Given the description of an element on the screen output the (x, y) to click on. 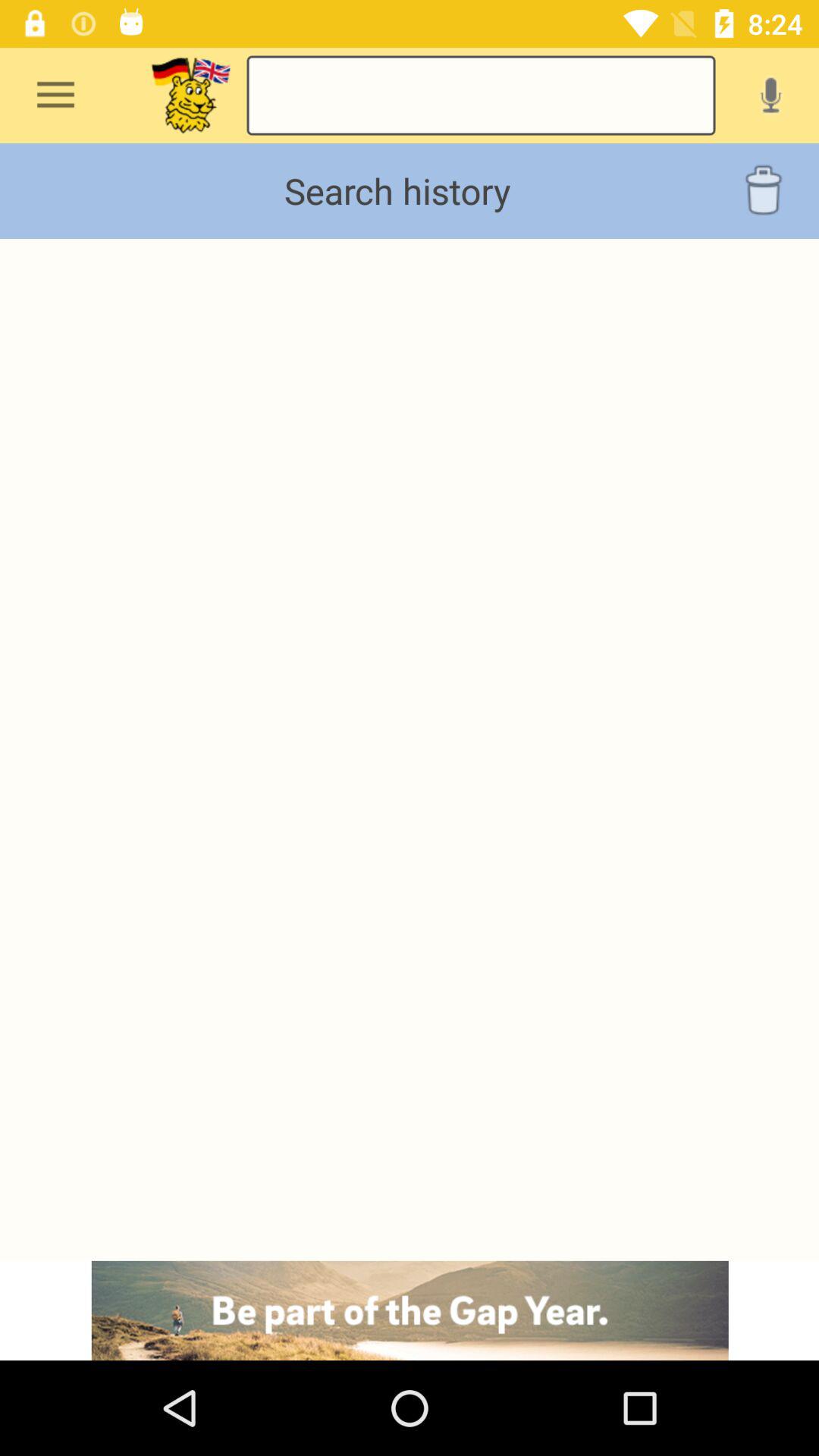
search box (190, 95)
